Given the description of an element on the screen output the (x, y) to click on. 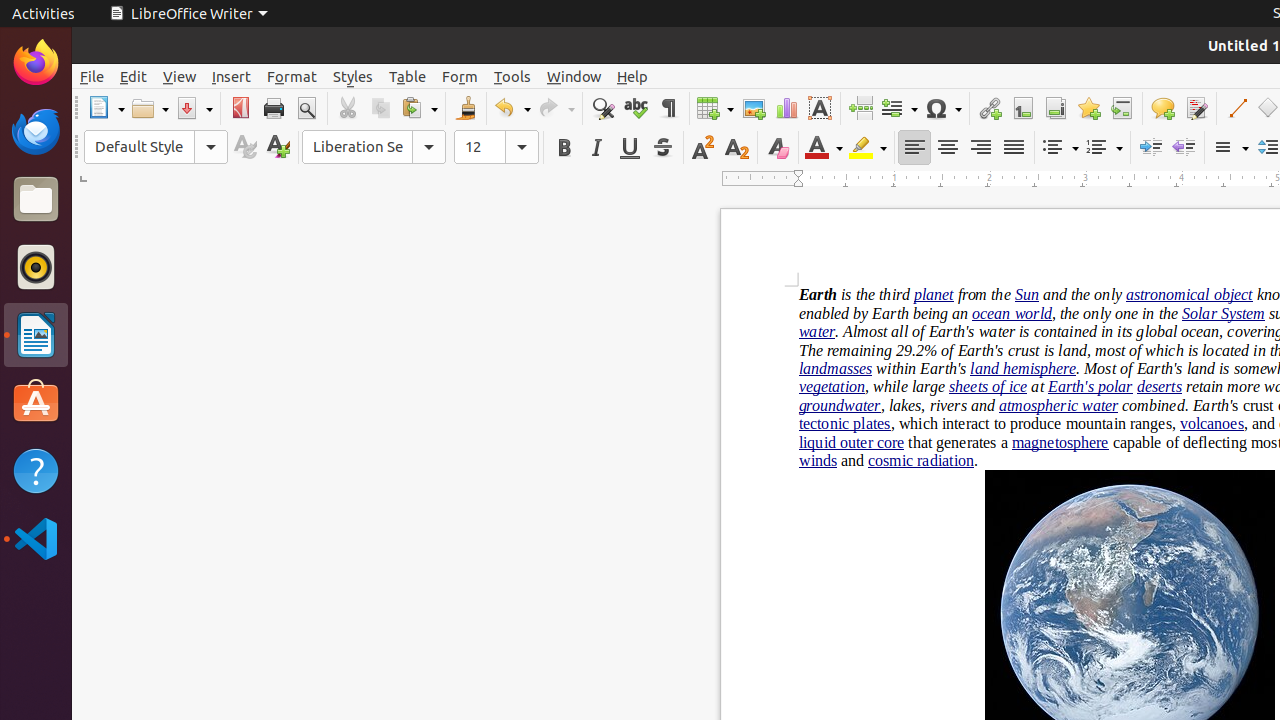
LibreOffice Writer Element type: push-button (36, 334)
Soffice Element type: push-button (36, 607)
Soffice Element type: menu (150, 13)
Files Element type: push-button (36, 199)
Visual Studio Code Element type: push-button (36, 538)
